Given the description of an element on the screen output the (x, y) to click on. 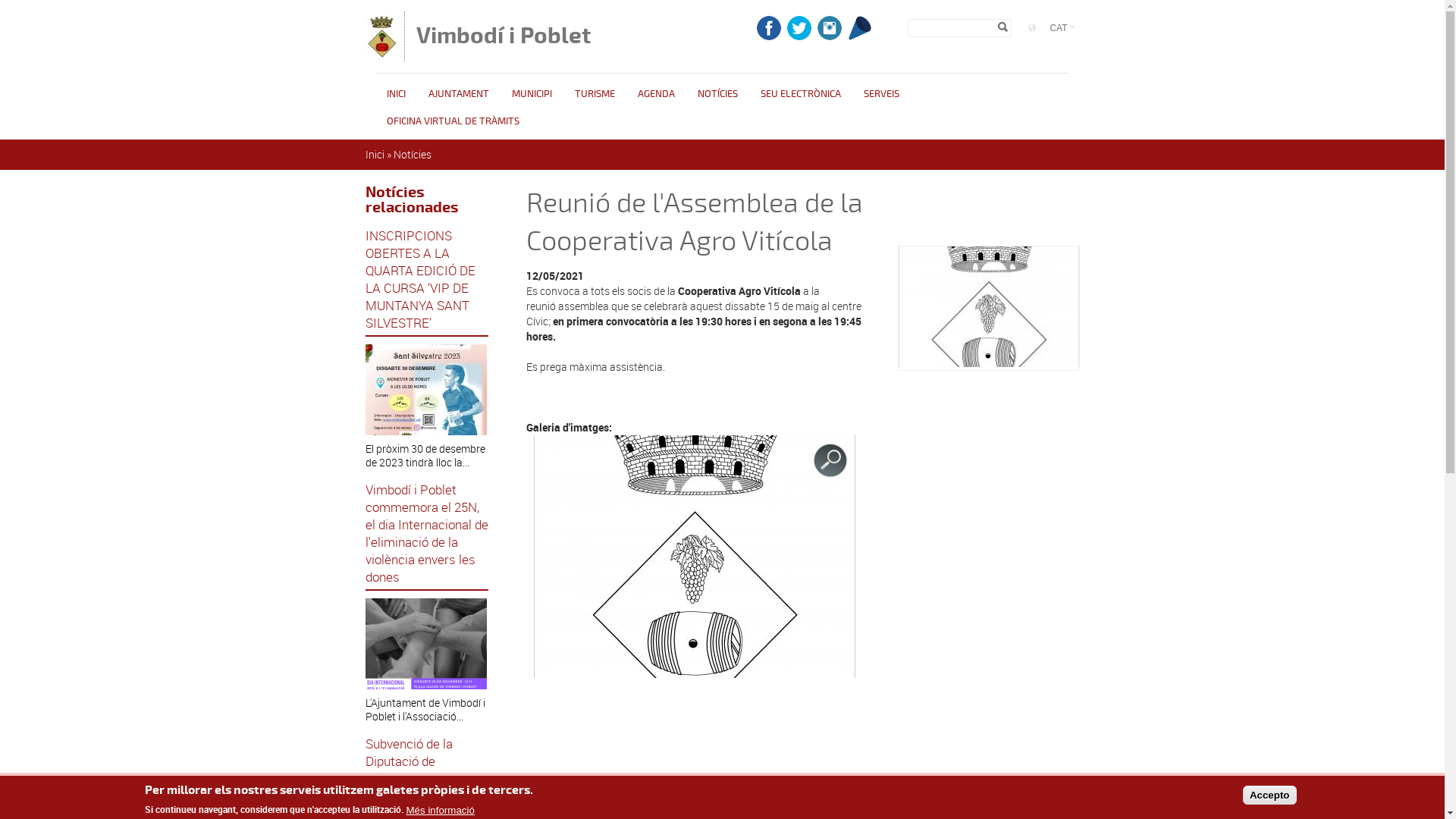
INICI Element type: text (395, 93)
Inici Element type: hover (380, 54)
AJUNTAMENT Element type: text (458, 93)
TURISME Element type: text (594, 93)
Accepto Element type: text (1269, 794)
AGENDA Element type: text (655, 93)
SERVEIS Element type: text (881, 93)
Inici Element type: text (374, 154)
MUNICIPI Element type: text (531, 93)
